Given the description of an element on the screen output the (x, y) to click on. 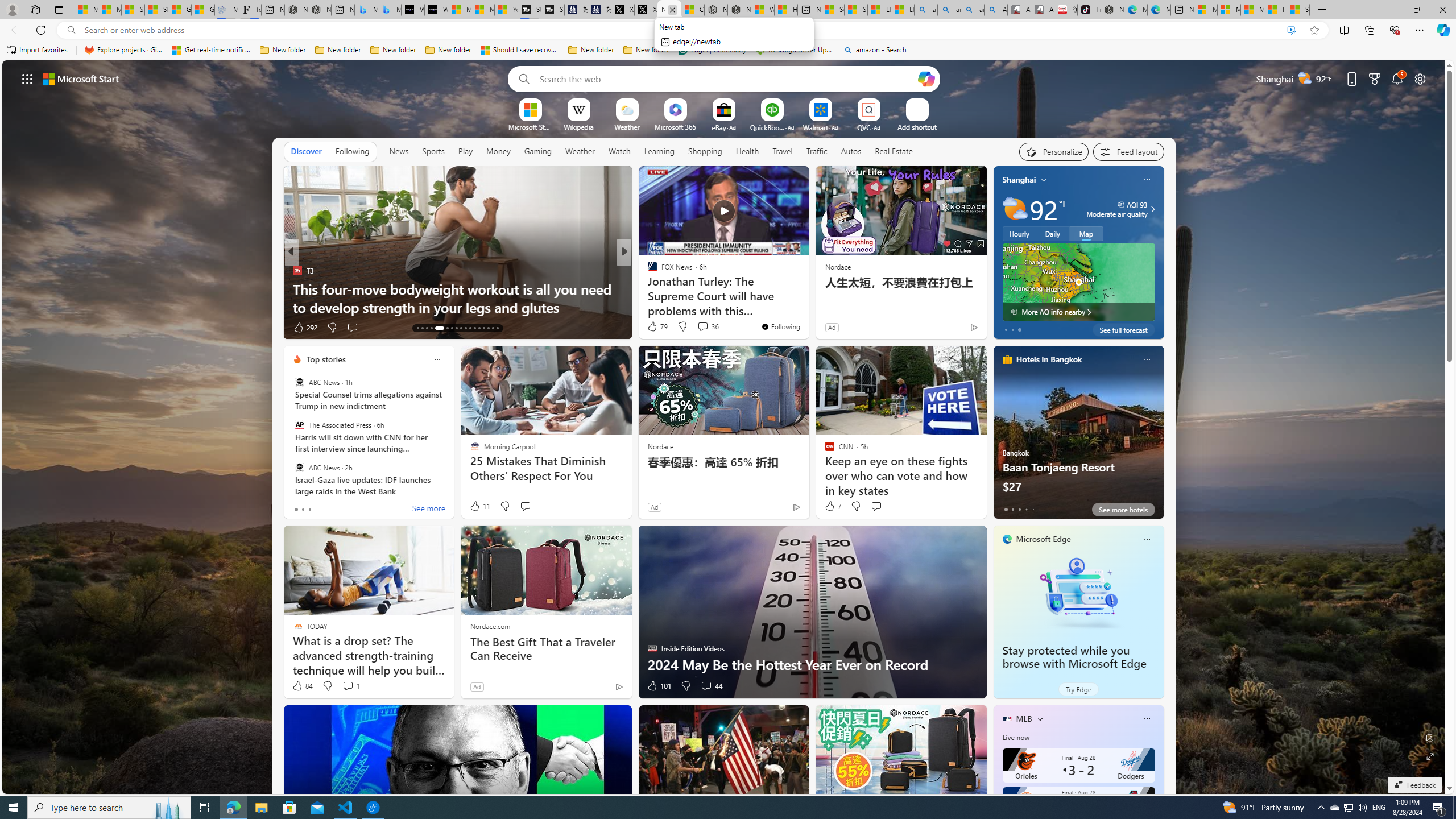
AutomationID: tab-17 (439, 328)
View comments 1 Comment (350, 685)
Top stories (325, 359)
Hourly (1018, 233)
News (398, 151)
Nordace - Summer Adventures 2024 (738, 9)
Settings and more (Alt+F) (1419, 29)
Planning to Organize (647, 270)
42 Like (652, 327)
aqi-icon AQI 93 Moderate air quality (1116, 208)
Real Estate (893, 151)
T3 (296, 270)
Search icon (70, 29)
Learning (658, 151)
tab-4 (1032, 509)
